Given the description of an element on the screen output the (x, y) to click on. 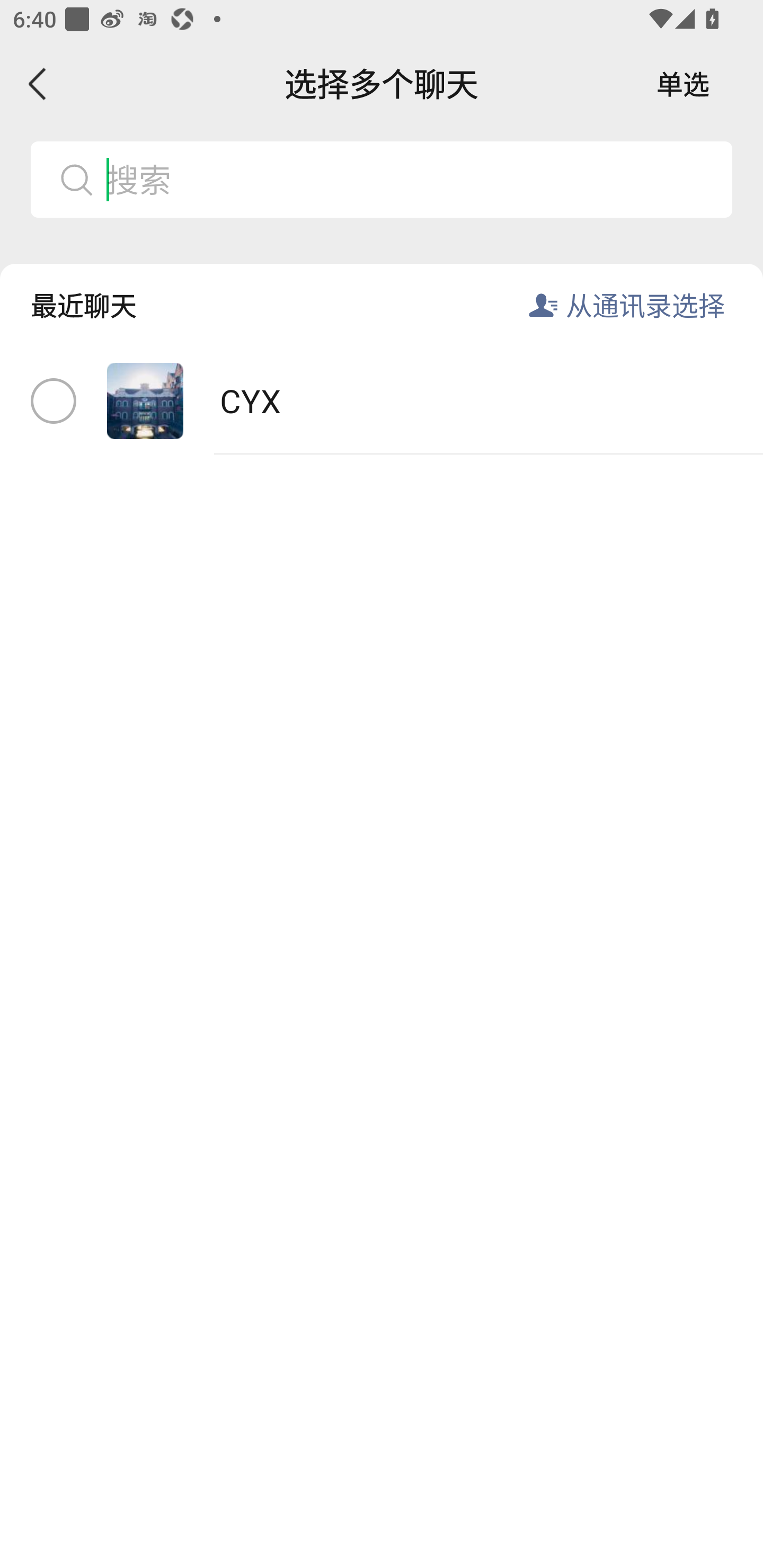
返回 (38, 83)
单选 (683, 83)
搜索 (411, 179)
从通讯录选择 (645, 304)
CYX (381, 401)
